Given the description of an element on the screen output the (x, y) to click on. 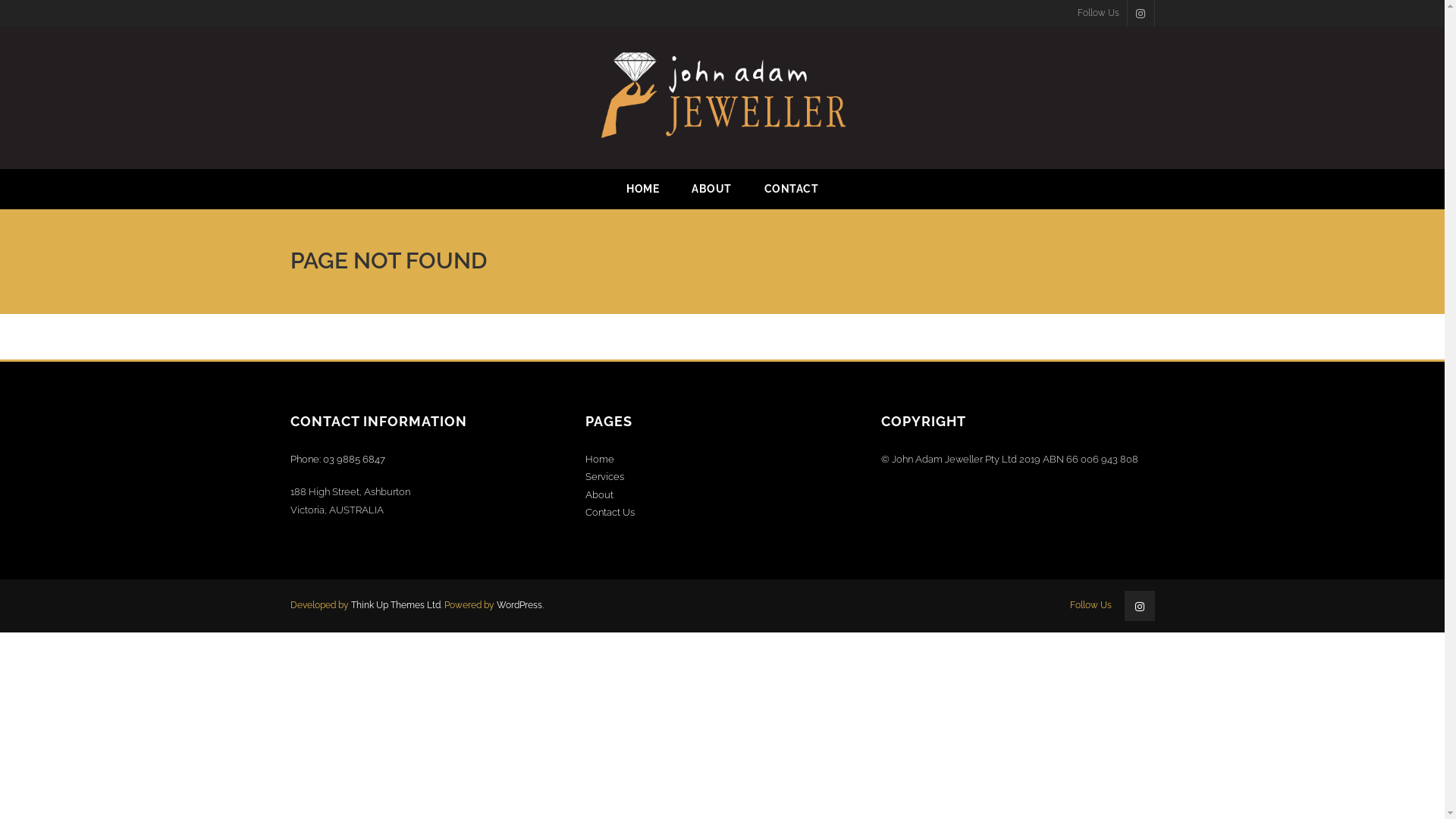
Home Element type: text (599, 458)
ABOUT Element type: text (711, 189)
Services Element type: text (604, 476)
Think Up Themes Ltd Element type: text (394, 604)
WordPress Element type: text (518, 604)
Phone: 03 9885 6847 Element type: text (336, 458)
HOME Element type: text (642, 189)
CONTACT Element type: text (791, 189)
Contact Us Element type: text (609, 511)
About Element type: text (599, 494)
